Given the description of an element on the screen output the (x, y) to click on. 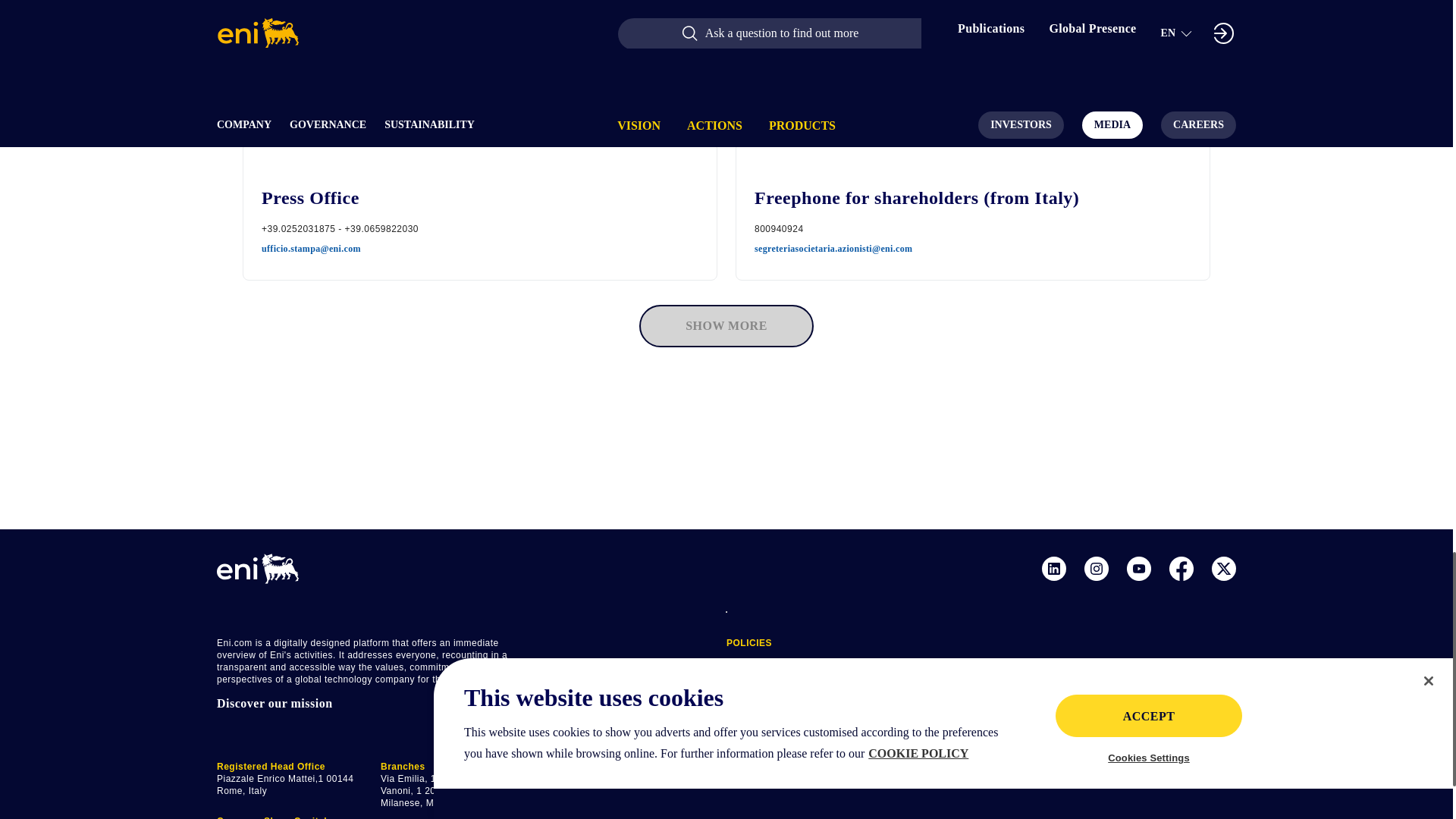
Link  (1096, 569)
Link  (1223, 569)
Link  (1138, 569)
Link  (1053, 569)
Link  (1181, 569)
